Given the description of an element on the screen output the (x, y) to click on. 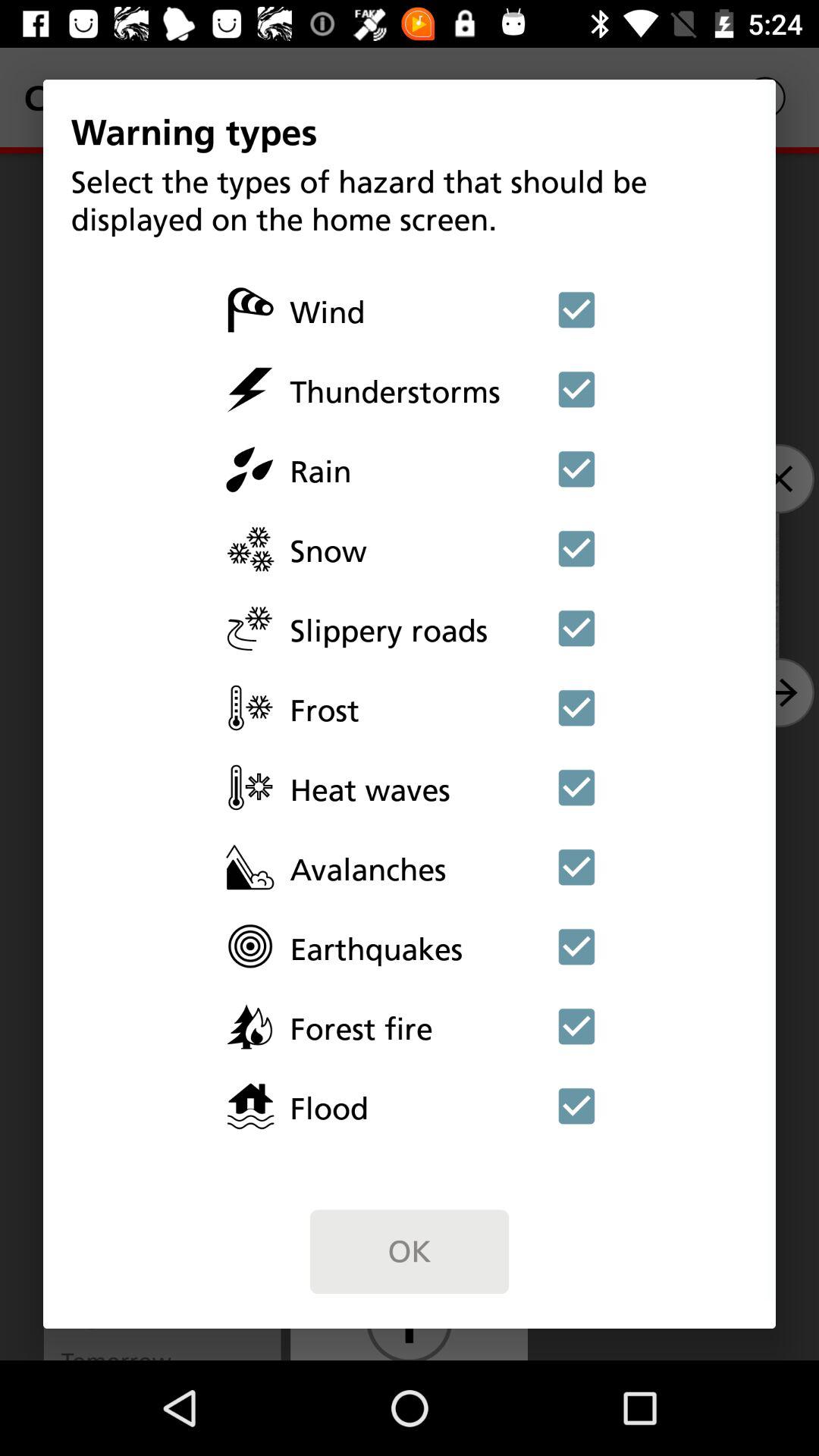
selecting a feature (576, 707)
